Given the description of an element on the screen output the (x, y) to click on. 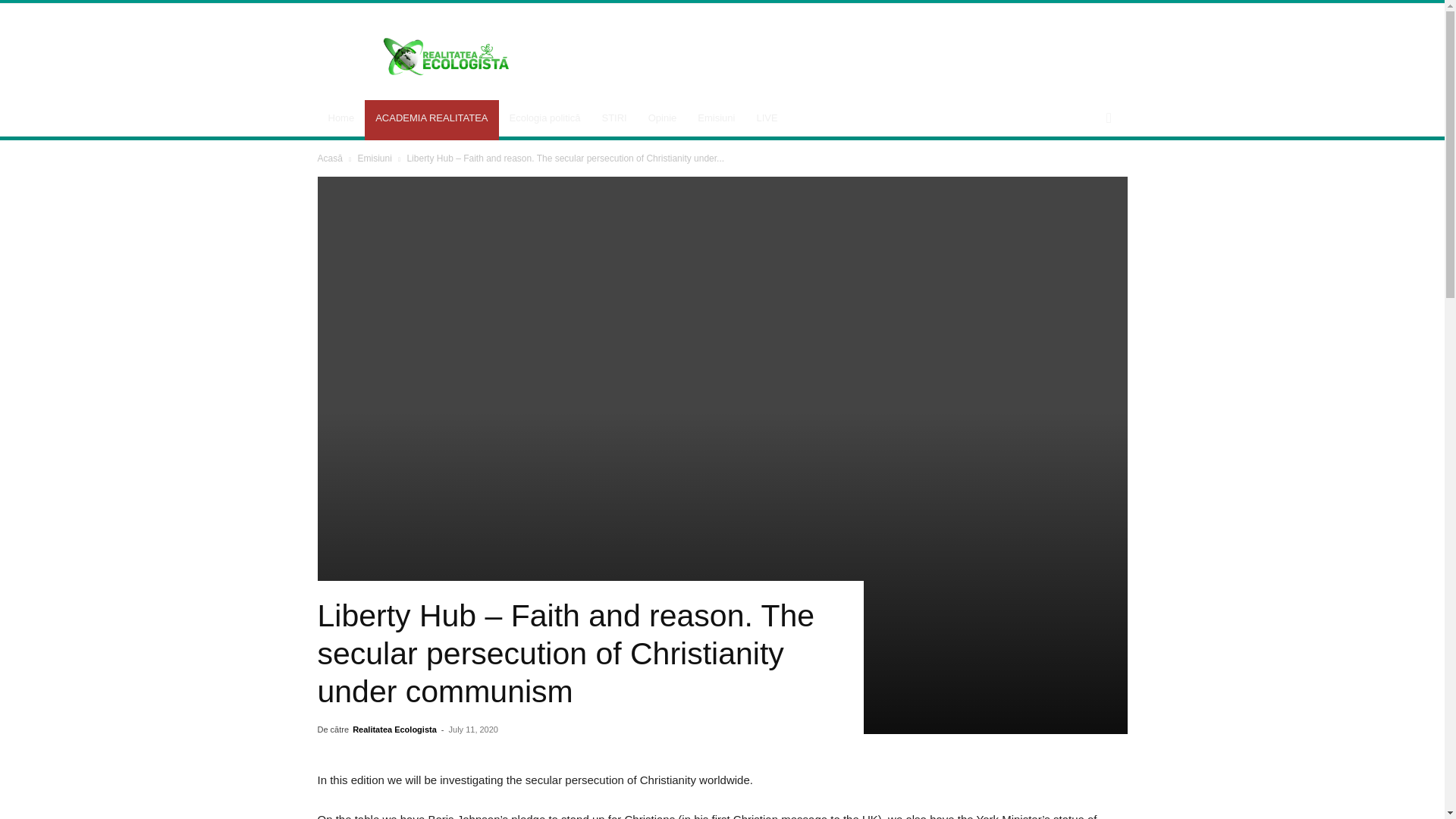
Realitatea Ecologista (394, 728)
Home (341, 117)
ACADEMIA REALITATEA (431, 117)
Opinie (662, 117)
Emisiuni (373, 158)
LIVE (766, 117)
STIRI (614, 117)
Emisiuni (716, 117)
